Given the description of an element on the screen output the (x, y) to click on. 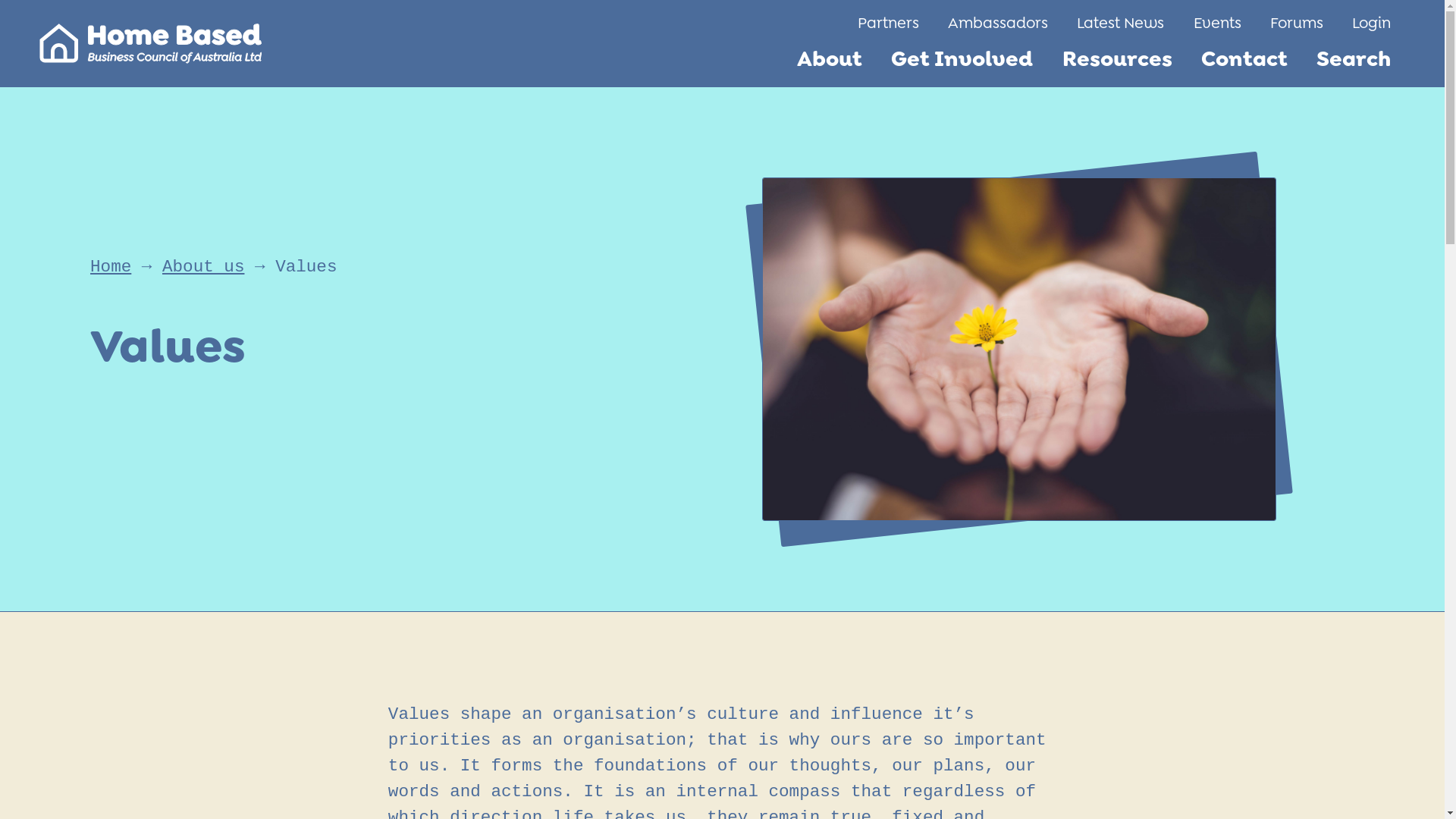
Home Element type: text (110, 266)
About us Element type: text (203, 266)
Partners Element type: text (887, 22)
Ambassadors Element type: text (997, 22)
Latest News Element type: text (1120, 22)
About Element type: text (829, 57)
Login Element type: text (1371, 22)
Get Involved Element type: text (961, 57)
Search Element type: text (1353, 57)
Forums Element type: text (1296, 22)
Contact Element type: text (1244, 57)
Resources Element type: text (1116, 57)
Events Element type: text (1216, 22)
Home Based Business Council of Australia Ltd Element type: text (149, 43)
